Given the description of an element on the screen output the (x, y) to click on. 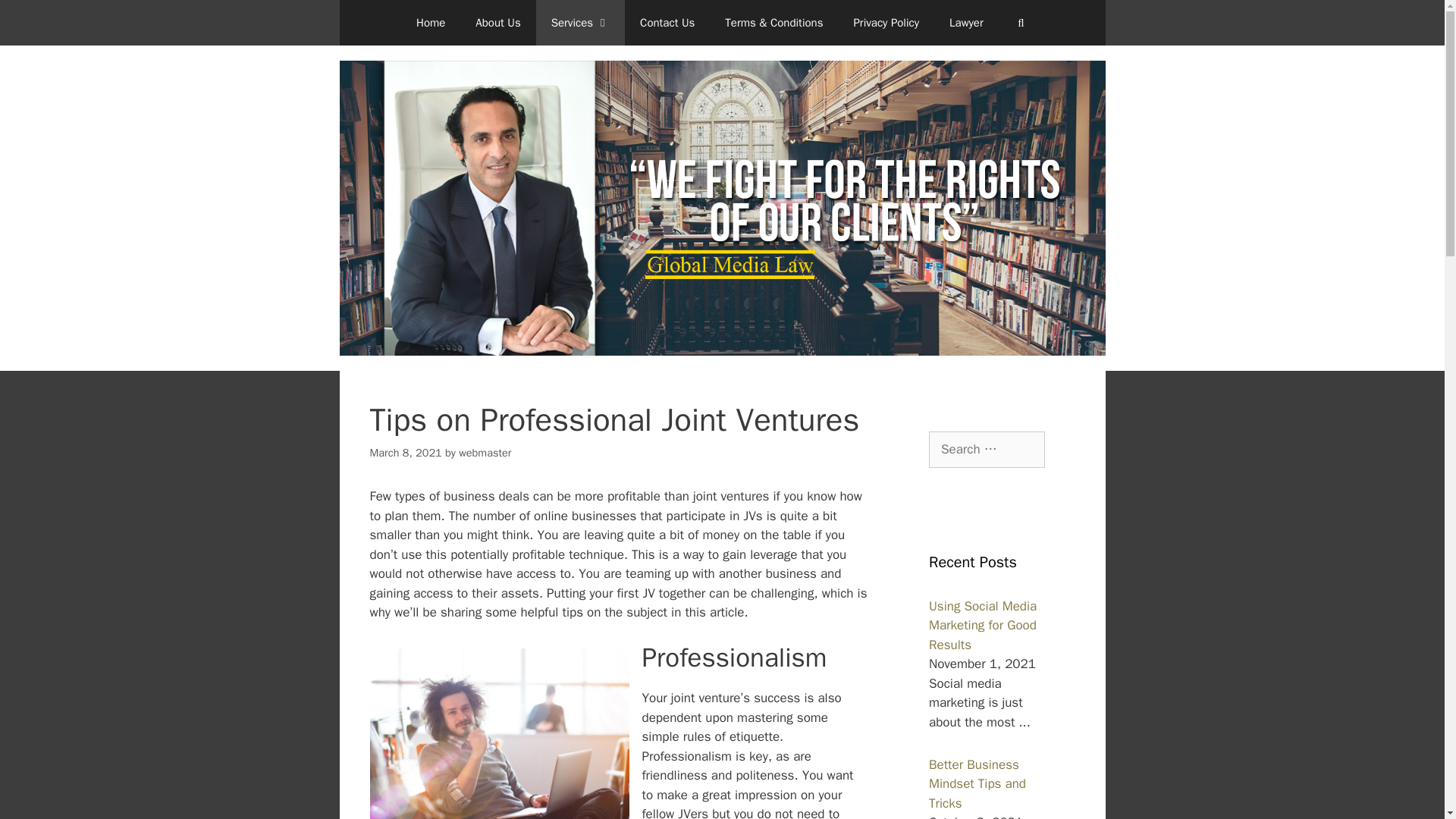
Privacy Policy (886, 22)
Better Business Mindset Tips and Tricks (977, 783)
Search for: (986, 449)
Using Social Media Marketing for Good Results (982, 625)
Lawyer (966, 22)
Search (35, 18)
Home (430, 22)
About Us (497, 22)
Services (579, 22)
Contact Us (667, 22)
View all posts by webmaster (484, 452)
webmaster (484, 452)
